Given the description of an element on the screen output the (x, y) to click on. 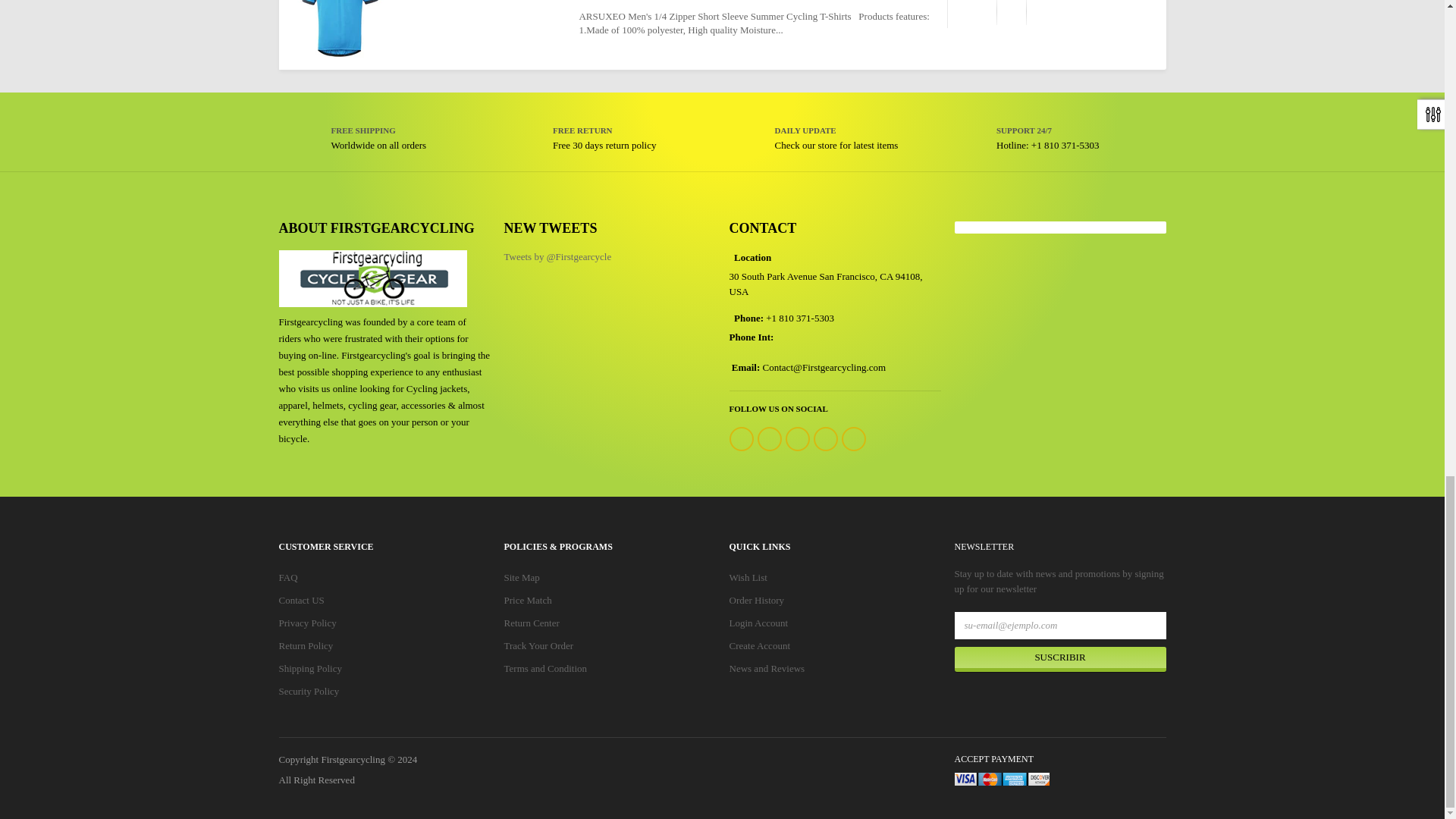
Suscribir (1059, 659)
